Given the description of an element on the screen output the (x, y) to click on. 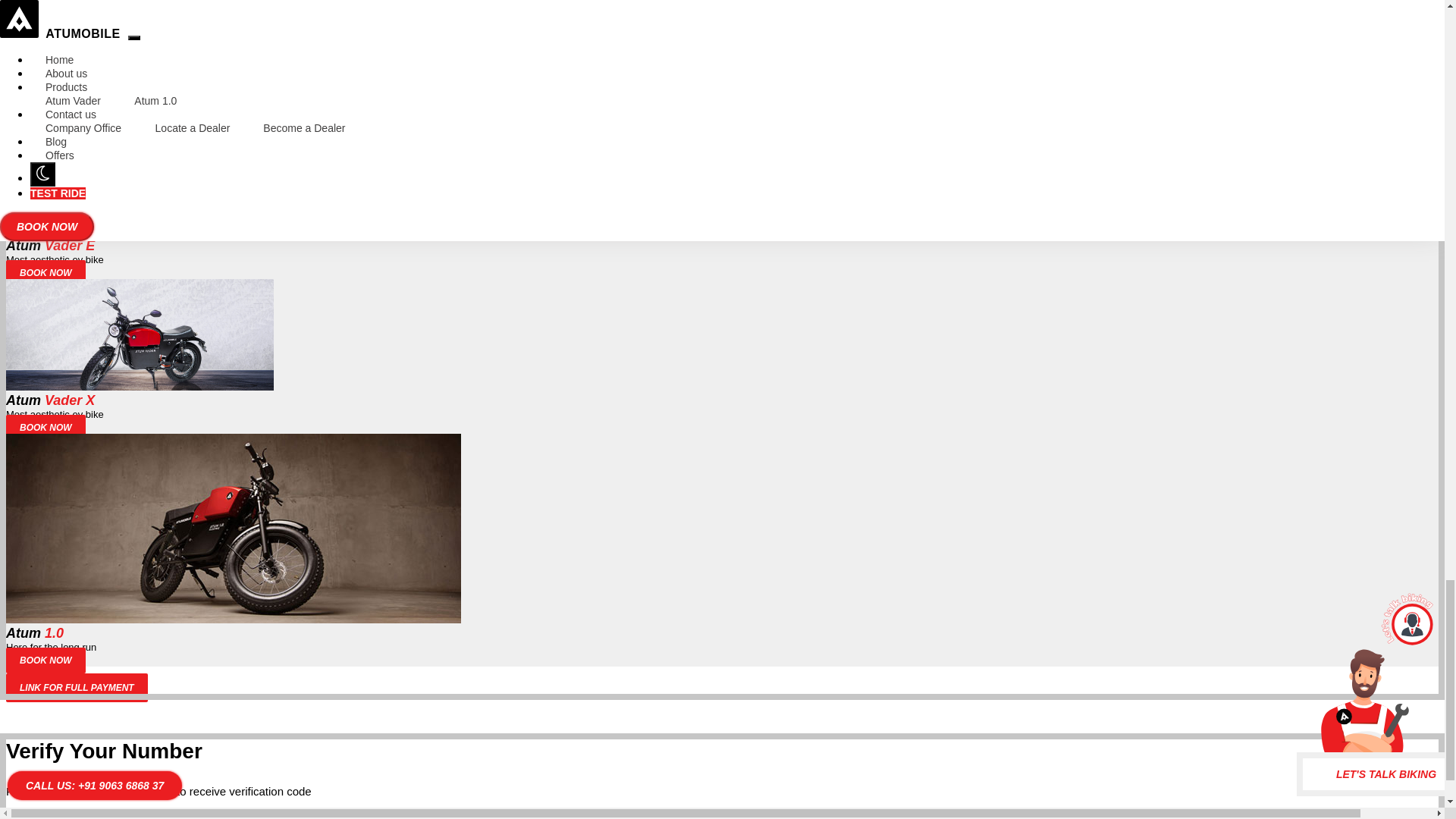
BOOK NOW (45, 660)
BOOK NOW (45, 272)
BOOK NOW (45, 427)
BOOK NOW (45, 118)
LINK FOR FULL PAYMENT (76, 687)
